Given the description of an element on the screen output the (x, y) to click on. 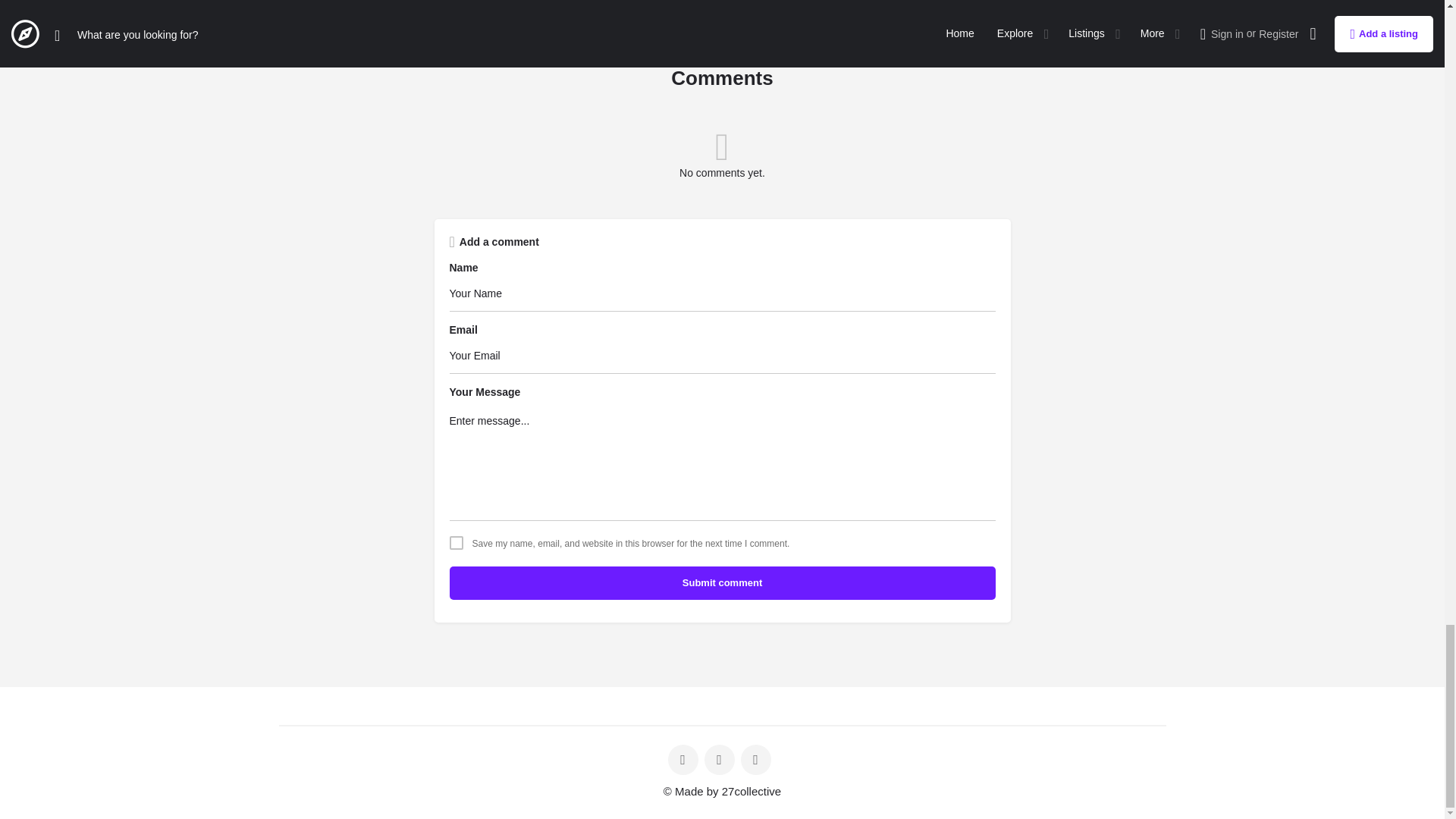
Submit comment (721, 582)
